Given the description of an element on the screen output the (x, y) to click on. 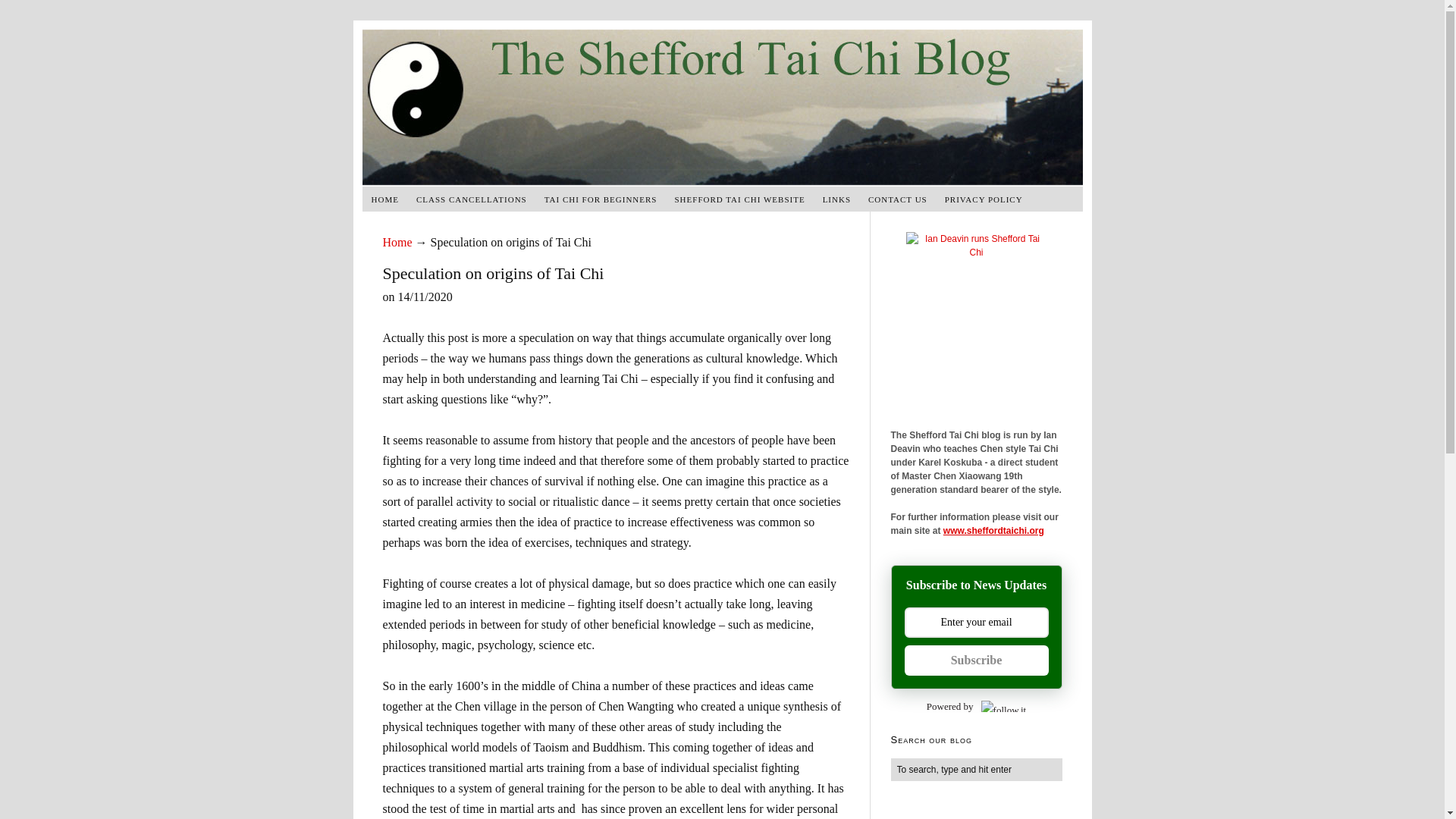
LINKS (836, 199)
CONTACT US (898, 199)
www.sheffordtaichi.org (993, 530)
PRIVACY POLICY (984, 199)
2020-11-14 (424, 296)
Powered by (975, 705)
To search, type and hit enter (975, 769)
Home (396, 241)
Subscribe (976, 660)
CLASS CANCELLATIONS (471, 199)
